Given the description of an element on the screen output the (x, y) to click on. 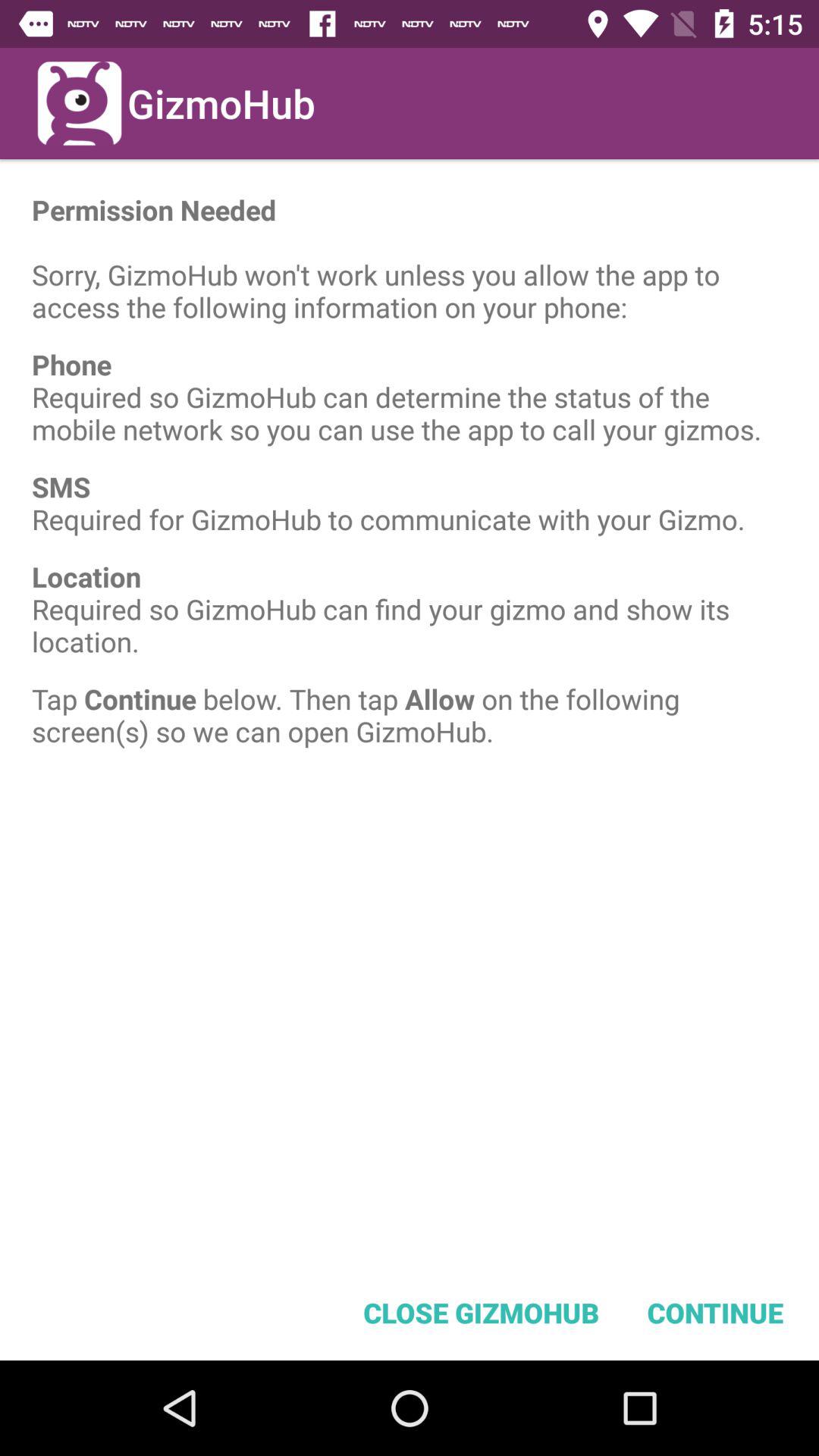
swipe until close gizmohub item (481, 1312)
